Given the description of an element on the screen output the (x, y) to click on. 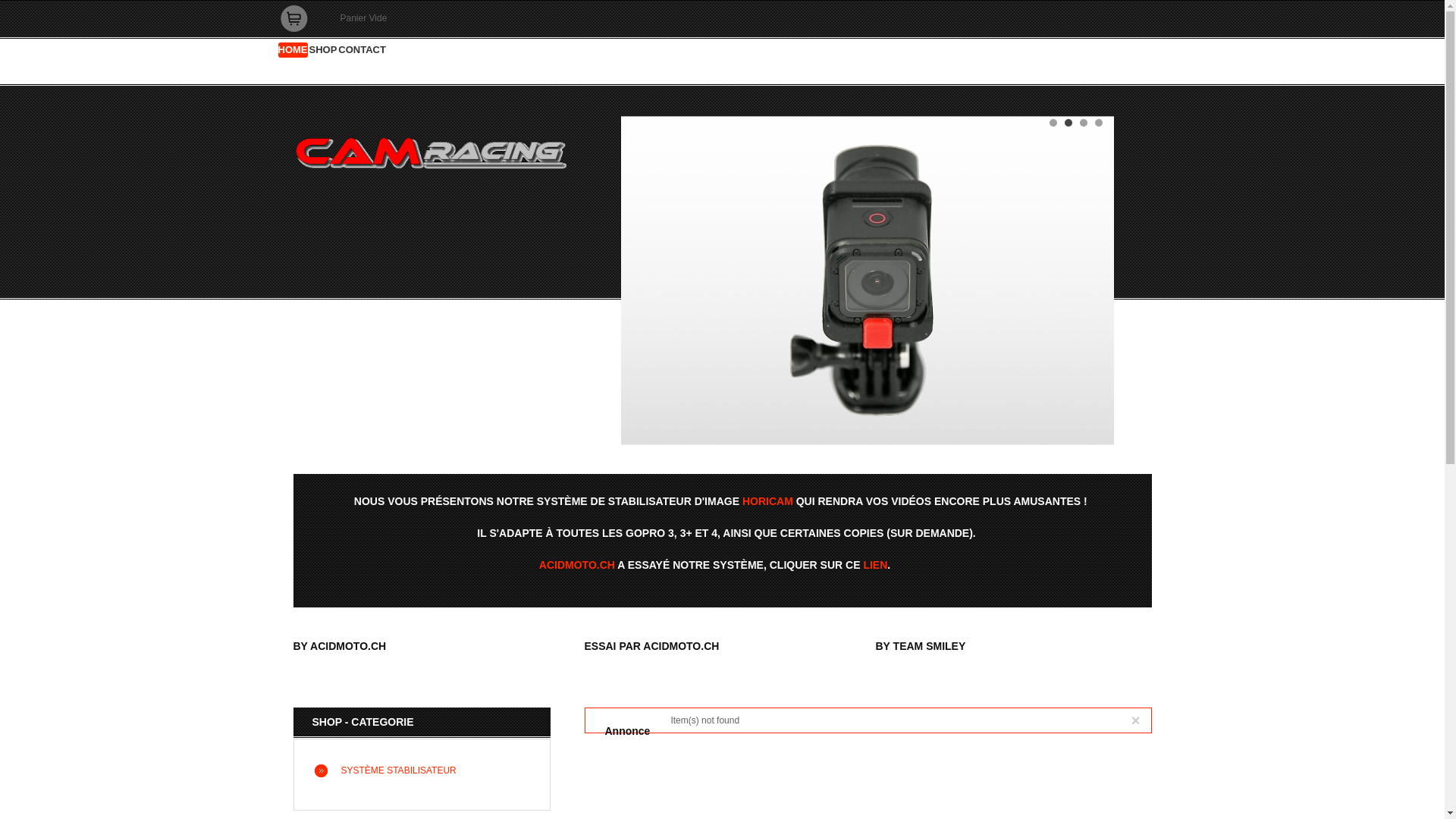
ACIDMOTO.CH Element type: text (577, 564)
CONTACT Element type: text (361, 49)
HORICAM Element type: text (767, 501)
LIEN Element type: text (874, 564)
SHOP Element type: text (323, 49)
HOME Element type: text (292, 49)
